Given the description of an element on the screen output the (x, y) to click on. 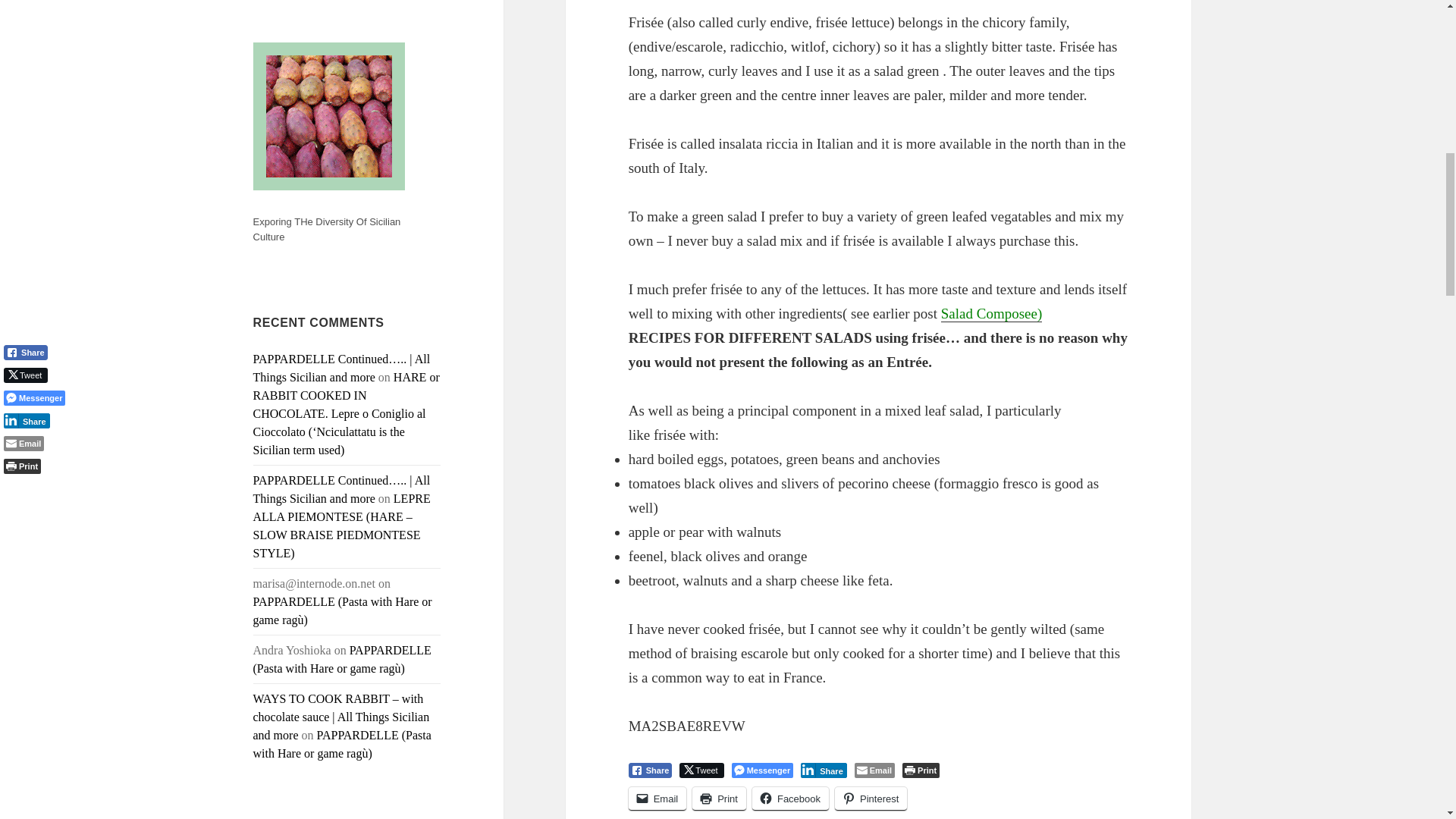
Click to share on Facebook (790, 798)
Click to email a link to a friend (657, 798)
Click to share on Pinterest (870, 798)
Click to print (719, 798)
